Given the description of an element on the screen output the (x, y) to click on. 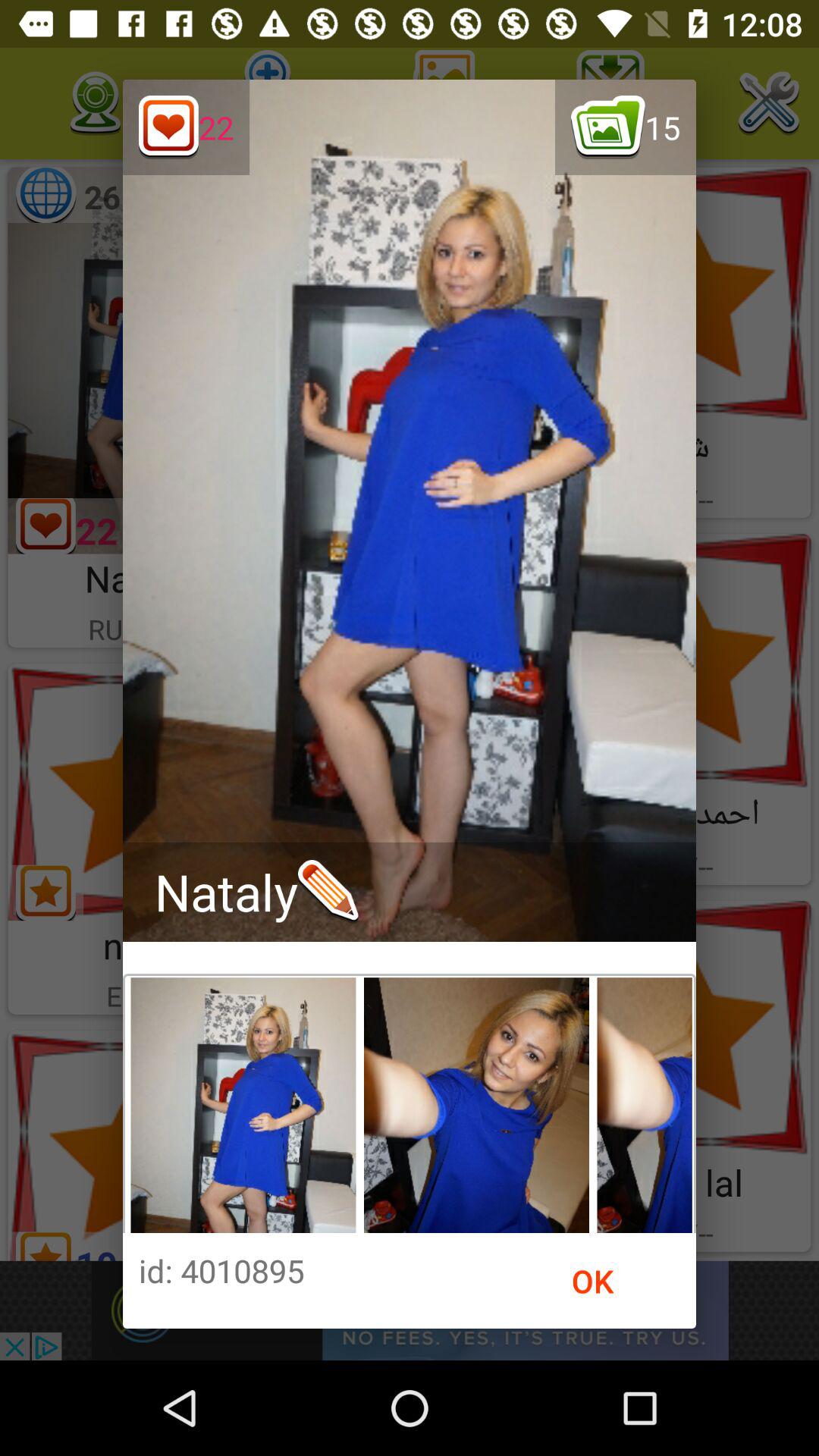
swipe until nataly (256, 891)
